Given the description of an element on the screen output the (x, y) to click on. 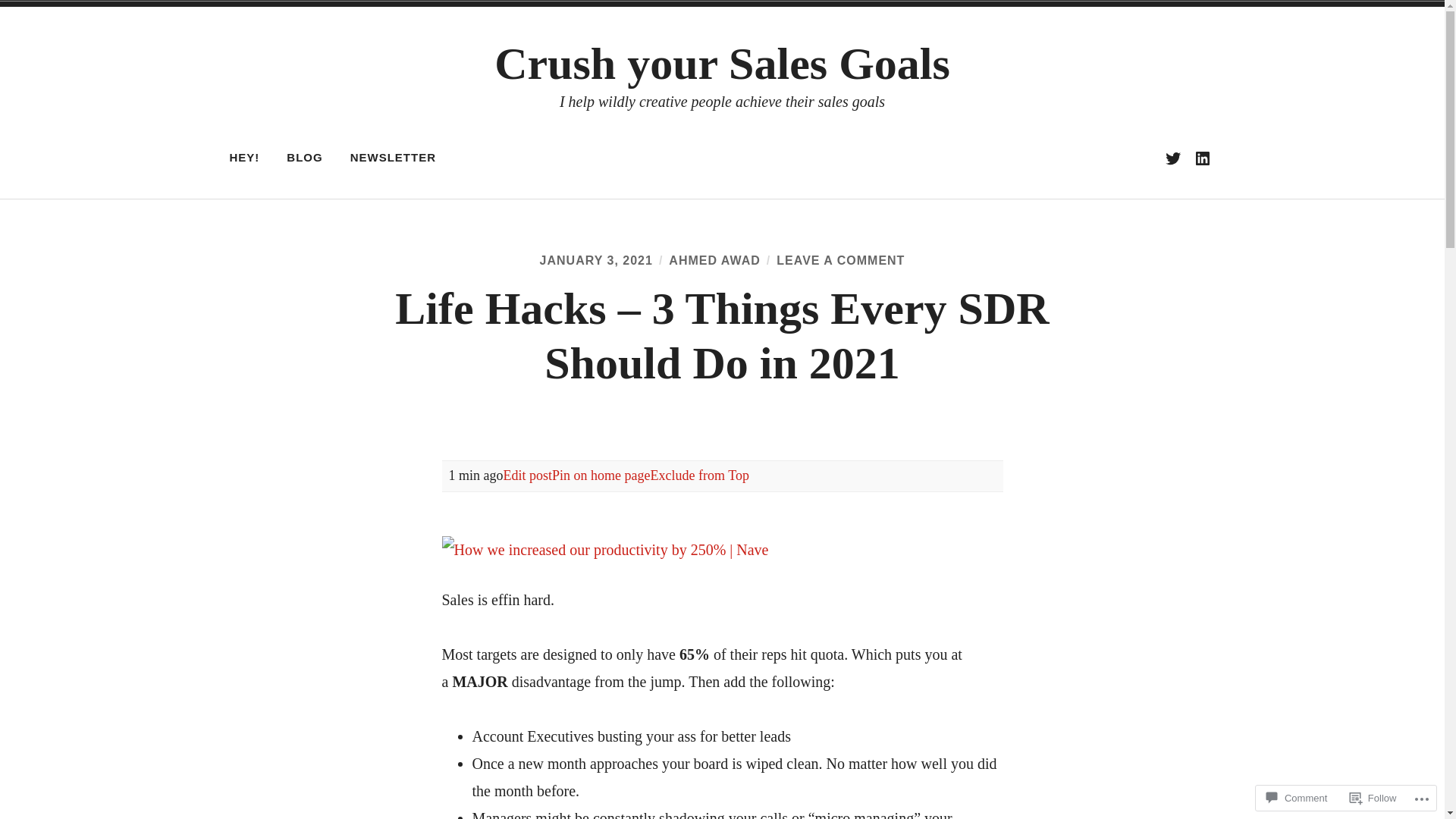
Follow Element type: text (1372, 797)
BLOG Element type: text (304, 157)
Exclude from Top Element type: text (699, 475)
Crush your Sales Goals Element type: text (722, 63)
Comment Element type: text (1296, 797)
Edit post Element type: text (527, 475)
NEWSLETTER Element type: text (392, 157)
Pin on home page Element type: text (600, 475)
AHMED AWAD Element type: text (714, 260)
HEY! Element type: text (244, 157)
LEAVE A COMMENT Element type: text (840, 260)
